Given the description of an element on the screen output the (x, y) to click on. 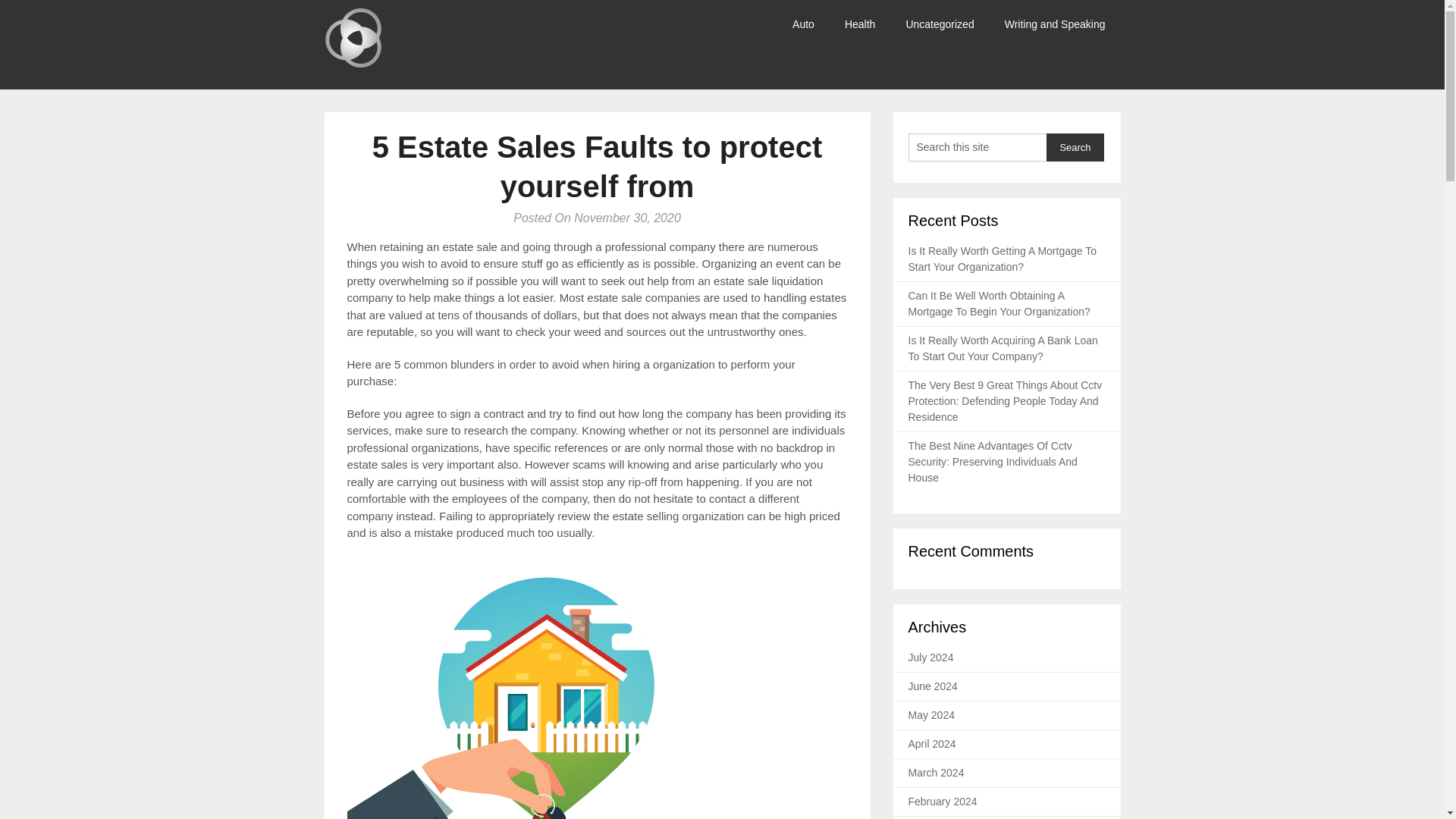
July 2024 (930, 657)
June 2024 (933, 686)
Health Category (859, 24)
Search (1075, 147)
Search this site (977, 147)
Auto (803, 24)
May 2024 (931, 715)
Writing and Speaking (1055, 24)
Health (859, 24)
April 2024 (932, 743)
March 2024 (935, 772)
